Given the description of an element on the screen output the (x, y) to click on. 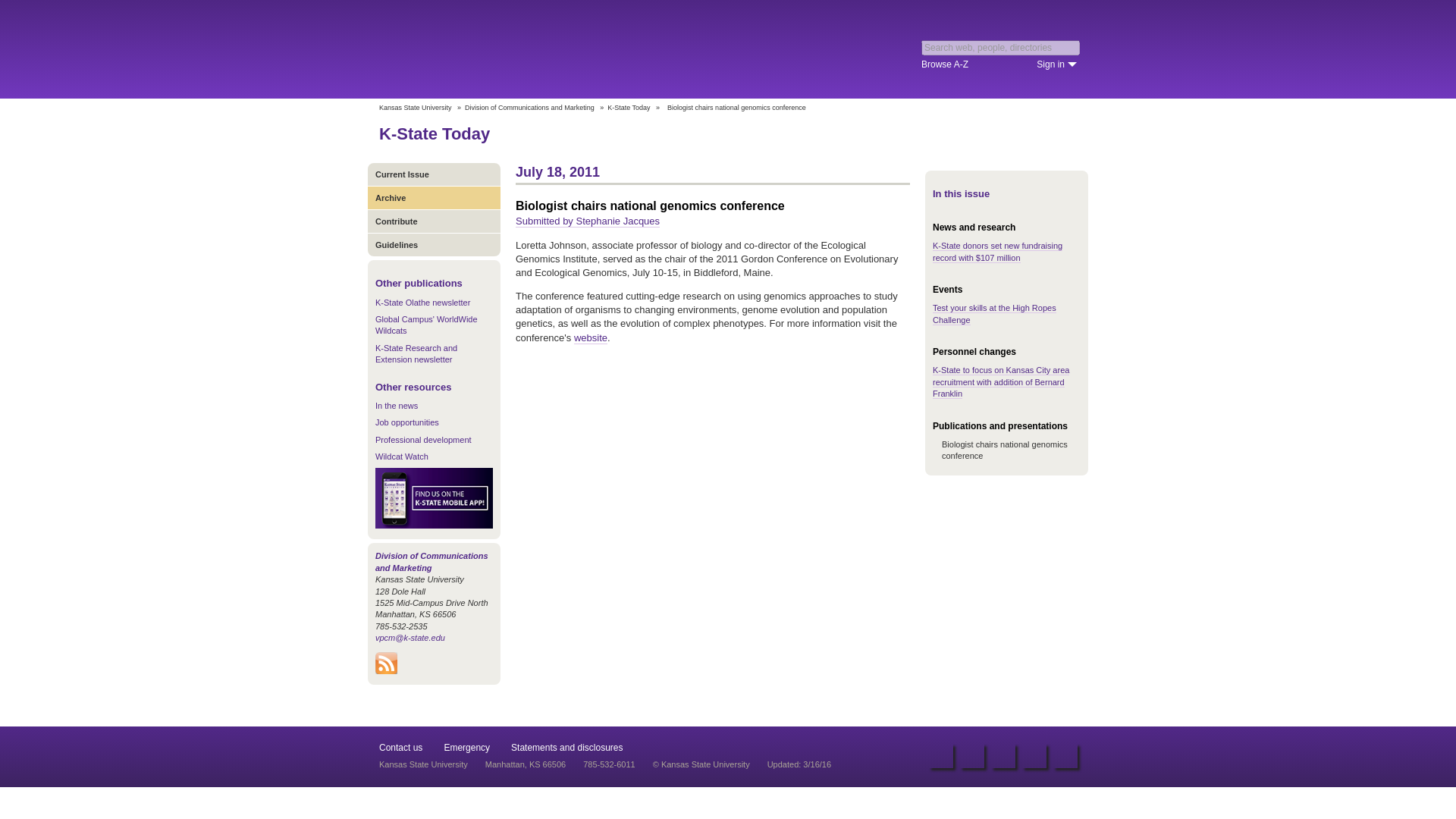
Archive (434, 197)
K-State Today (628, 107)
Current Issue (434, 173)
Emergency (466, 747)
Twitter (971, 755)
Subscribe to K-State Today RSS feeds (386, 669)
In the news (396, 405)
Foursquare (1034, 755)
Search web, people, directories (1000, 47)
